Given the description of an element on the screen output the (x, y) to click on. 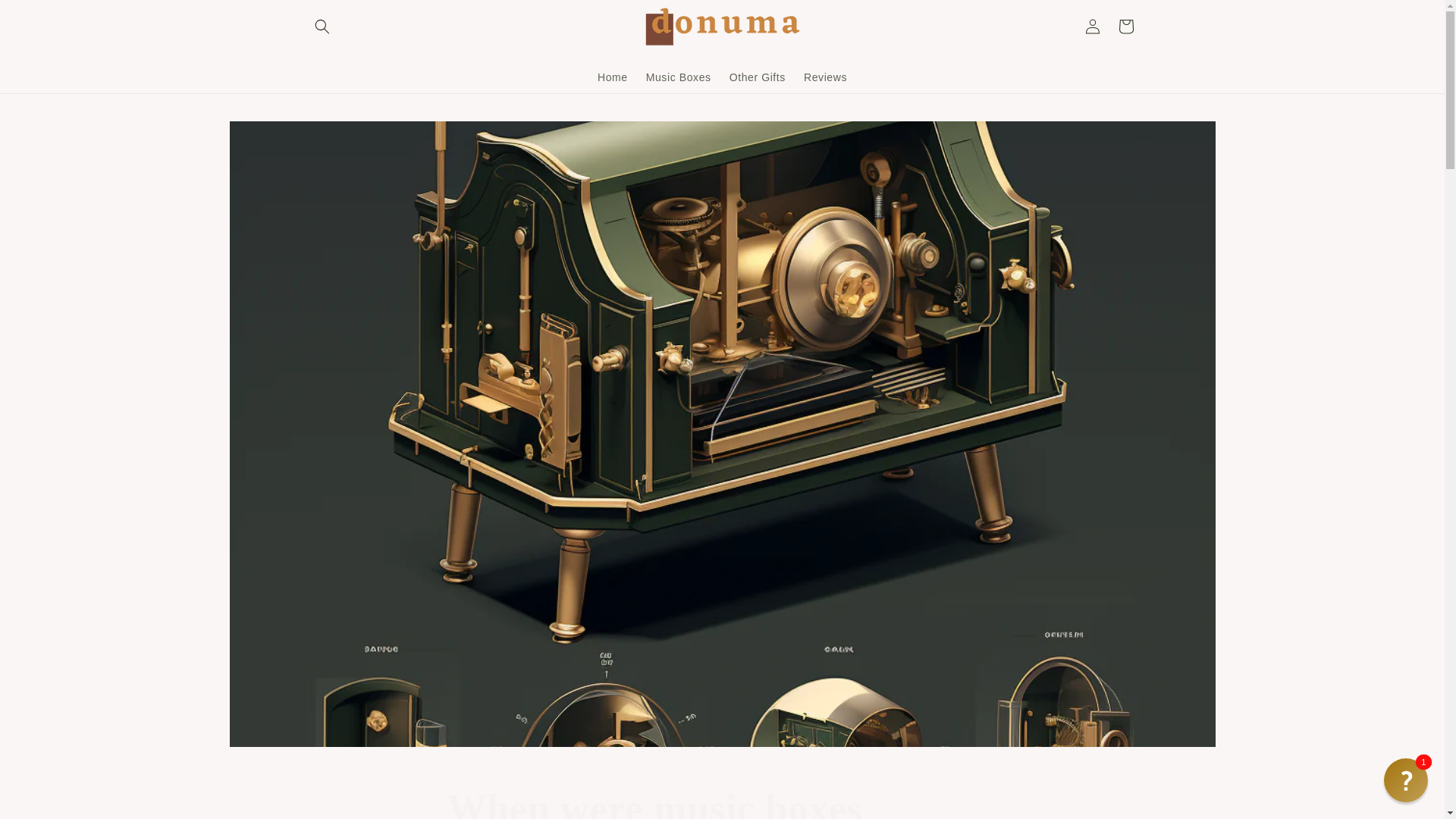
Home (612, 76)
Reviews (825, 76)
Log in (721, 801)
Other Gifts (1091, 26)
Cart (757, 76)
Skip to content (1124, 26)
Music Boxes (45, 17)
